Given the description of an element on the screen output the (x, y) to click on. 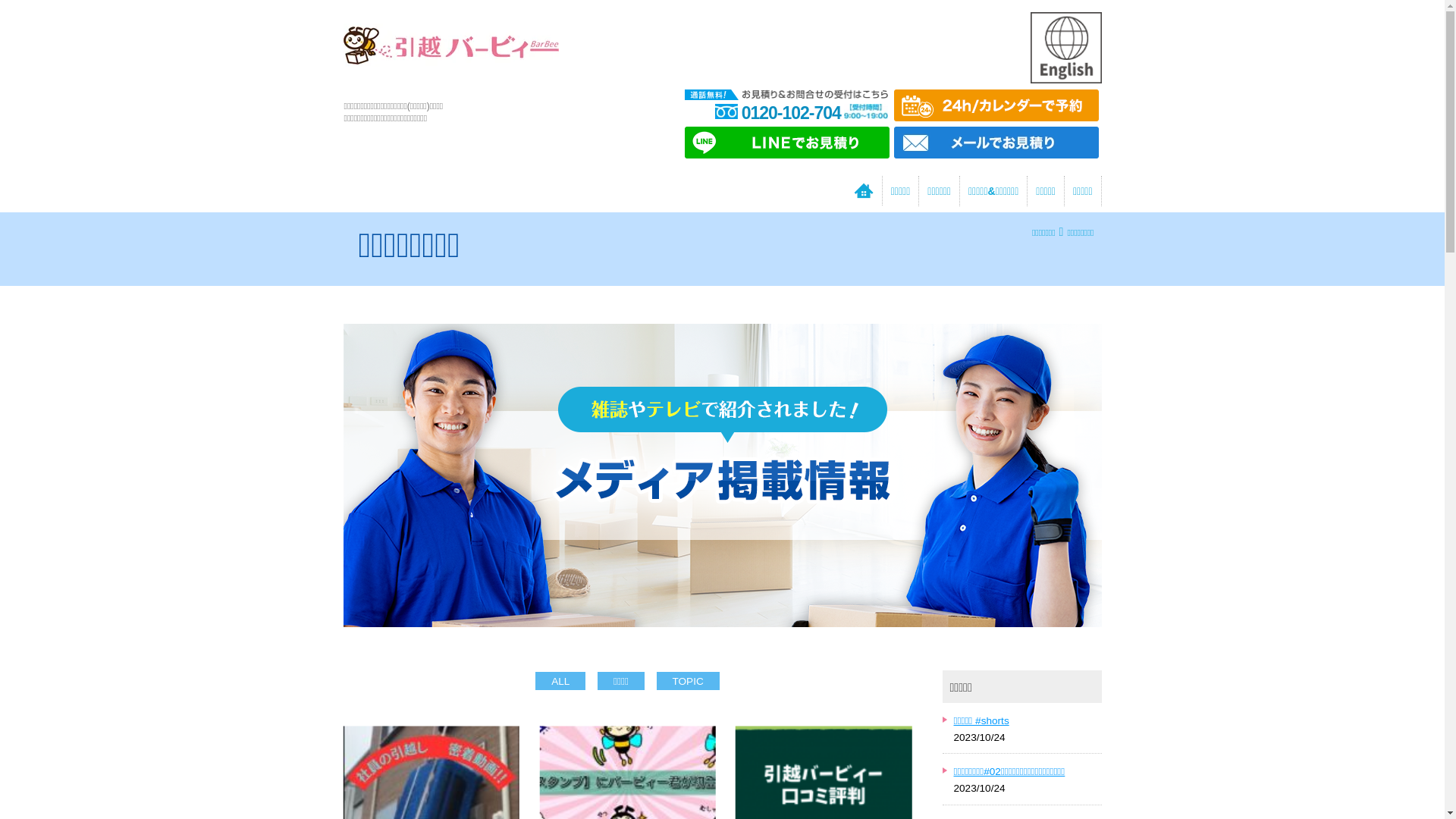
TOPIC Element type: text (687, 680)
ALL Element type: text (560, 680)
